Given the description of an element on the screen output the (x, y) to click on. 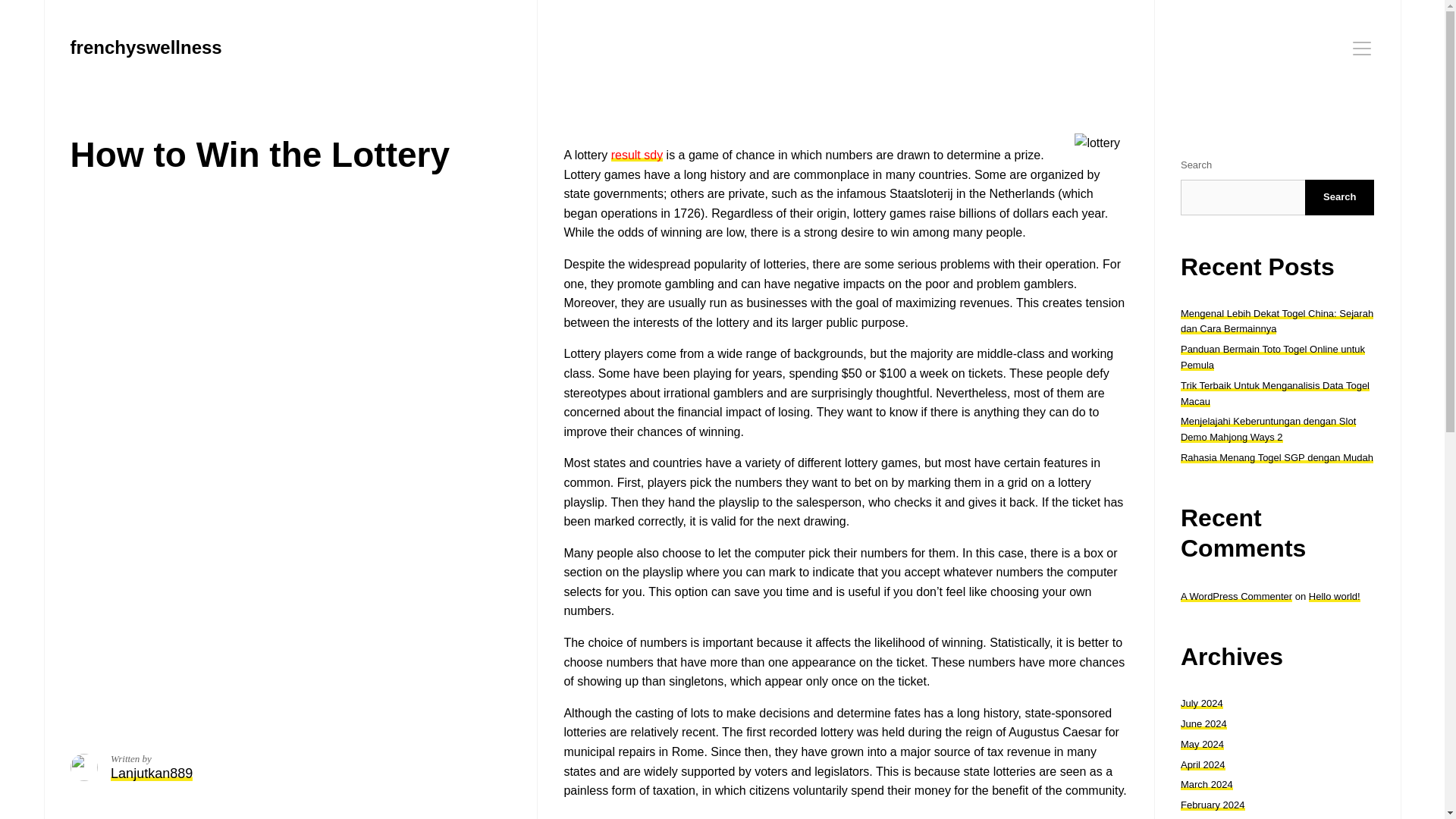
February 2024 (1212, 804)
Trik Terbaik Untuk Menganalisis Data Togel Macau (1275, 393)
Search (1339, 197)
Hello world! (1333, 595)
Lanjutkan889 (151, 773)
Rahasia Menang Togel SGP dengan Mudah (1276, 457)
frenchyswellness (145, 47)
result sdy (636, 154)
April 2024 (1202, 764)
July 2024 (1201, 703)
May 2024 (1202, 744)
Panduan Bermain Toto Togel Online untuk Pemula (1272, 357)
June 2024 (1203, 723)
Menu (1361, 48)
